Given the description of an element on the screen output the (x, y) to click on. 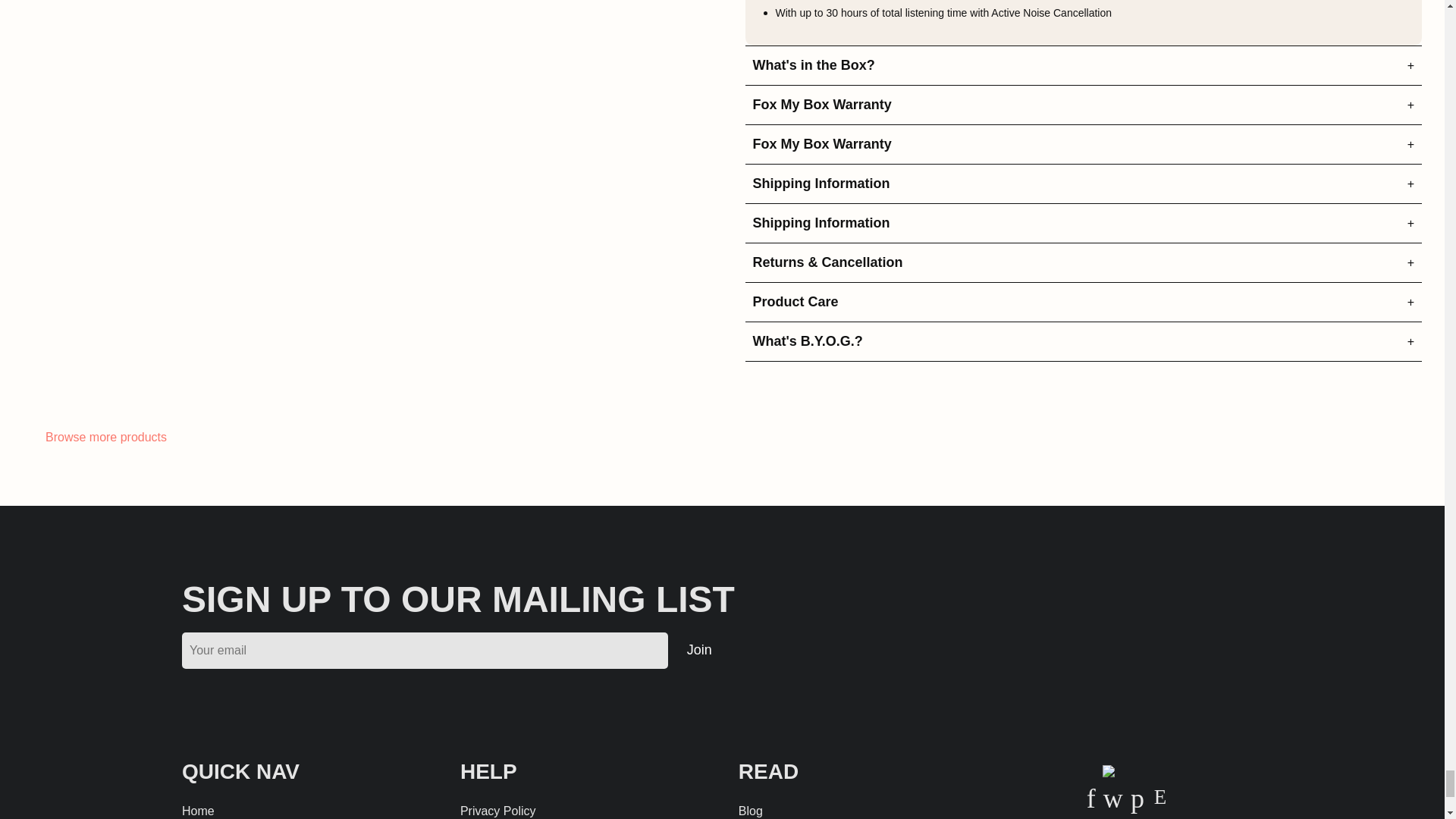
Join (698, 649)
